Given the description of an element on the screen output the (x, y) to click on. 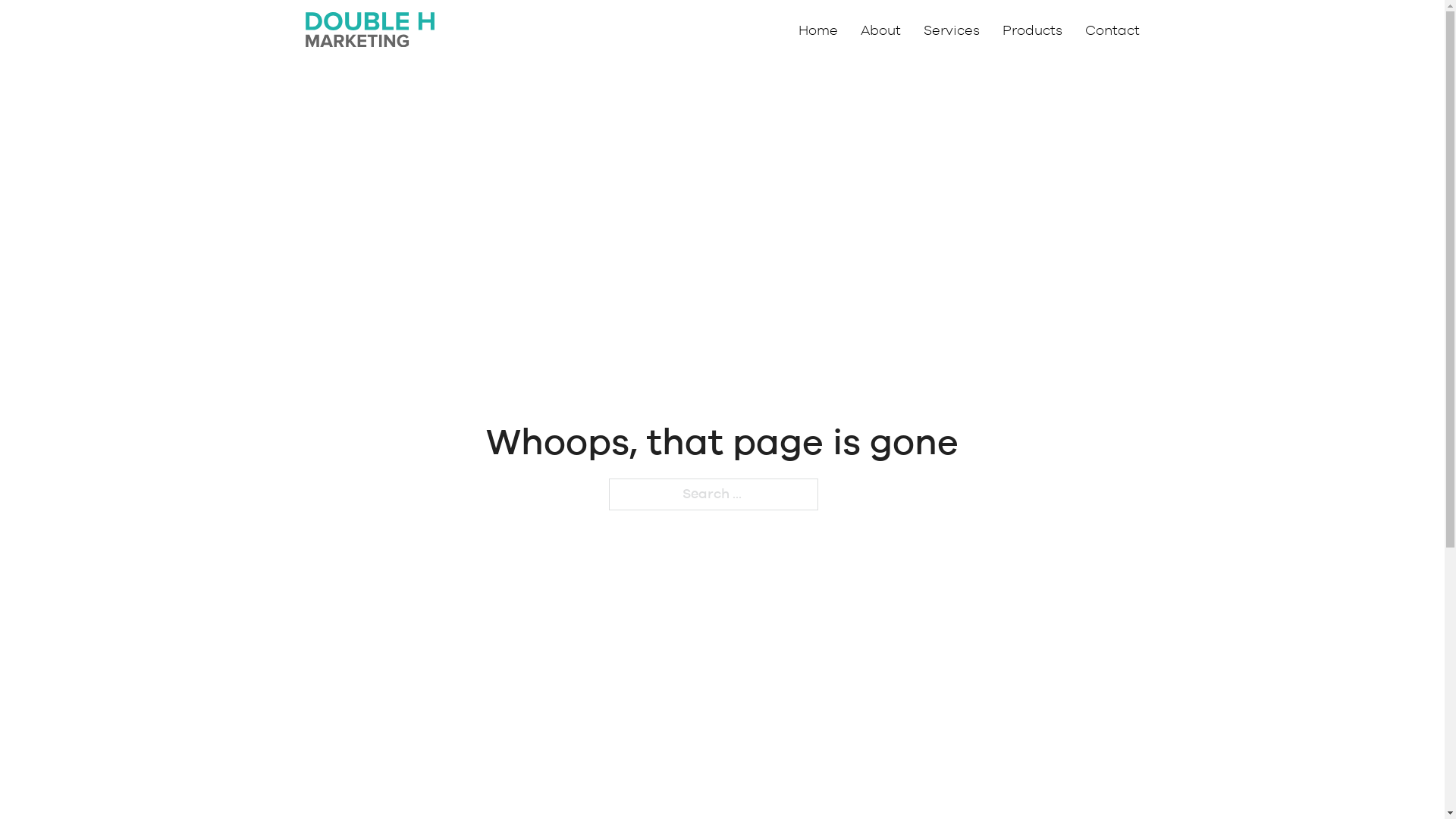
Services Element type: text (951, 31)
About Element type: text (879, 31)
Contact Element type: text (1111, 31)
Home Element type: text (817, 31)
Products Element type: text (1032, 31)
